Given the description of an element on the screen output the (x, y) to click on. 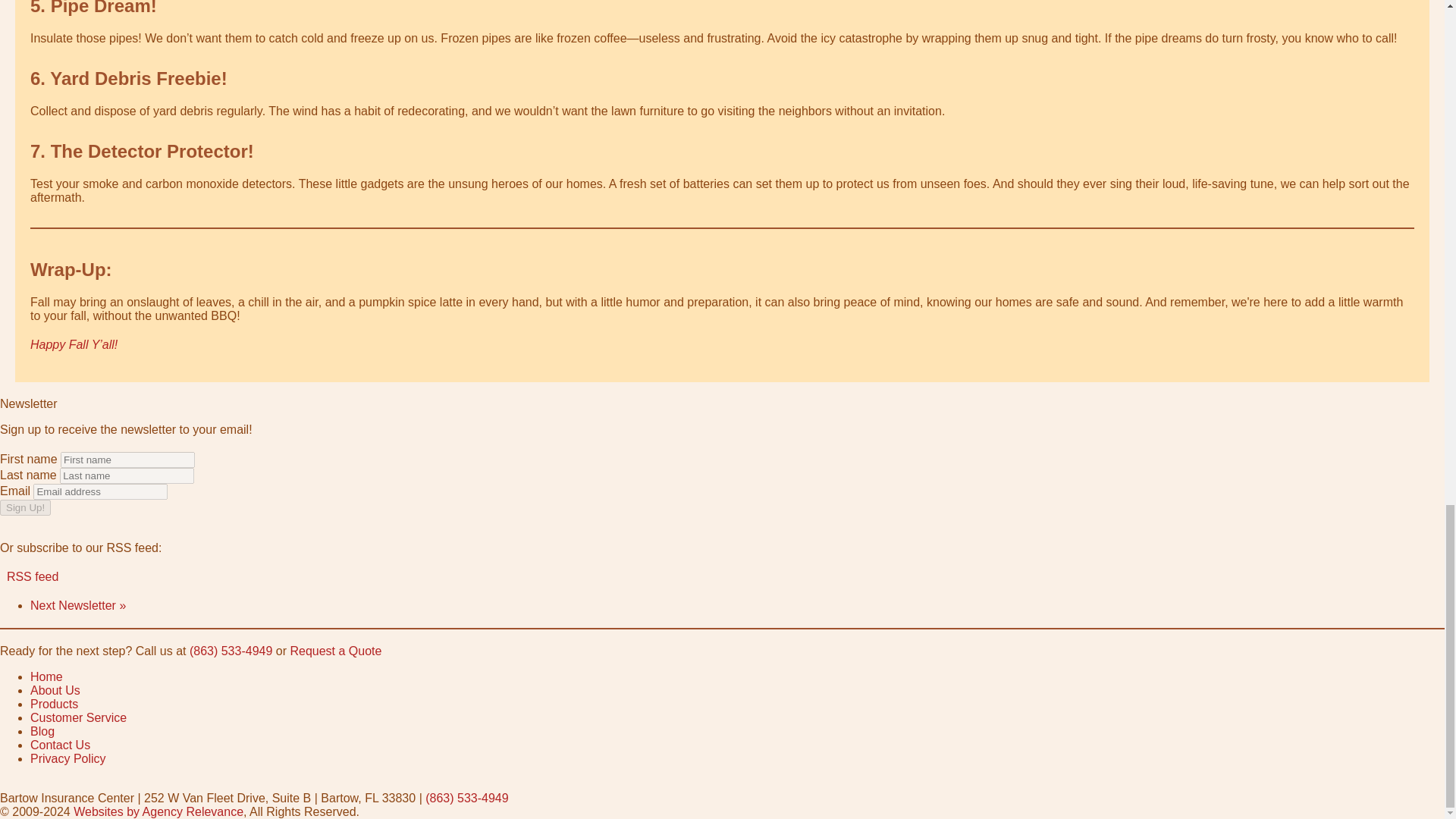
Sign Up! (25, 507)
